Given the description of an element on the screen output the (x, y) to click on. 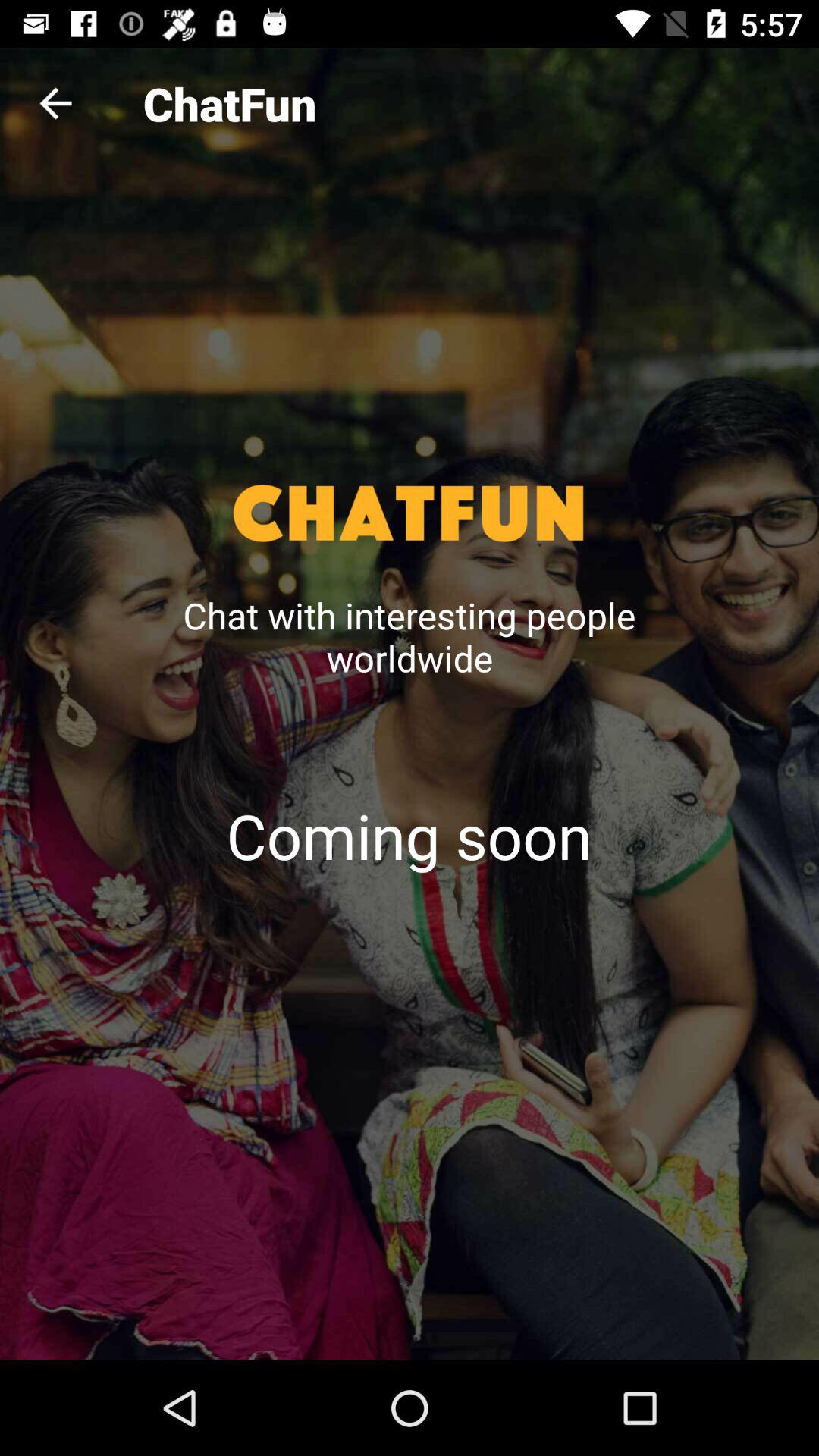
go back (55, 103)
